Given the description of an element on the screen output the (x, y) to click on. 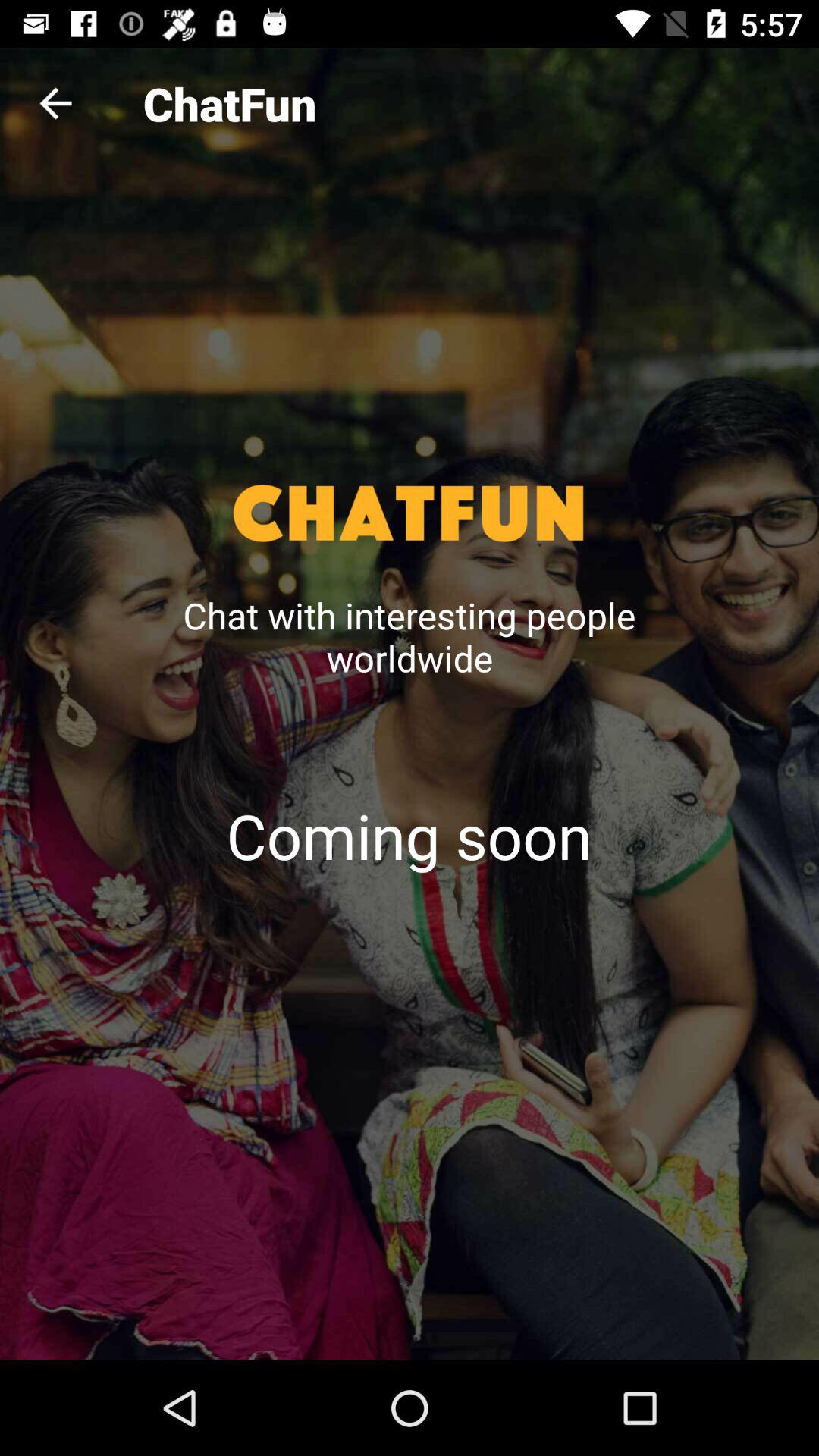
go back (55, 103)
